Given the description of an element on the screen output the (x, y) to click on. 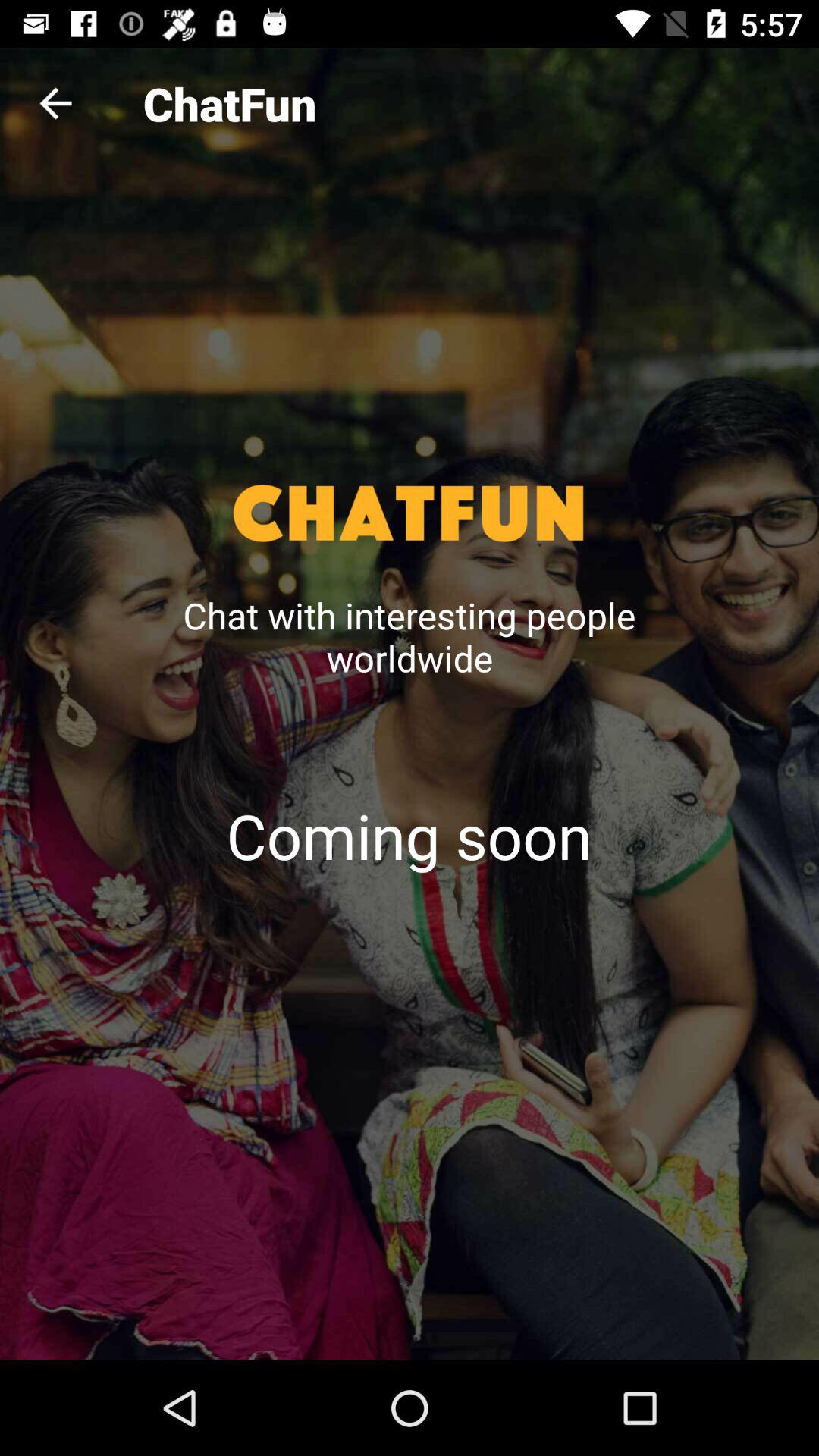
go back (55, 103)
